Given the description of an element on the screen output the (x, y) to click on. 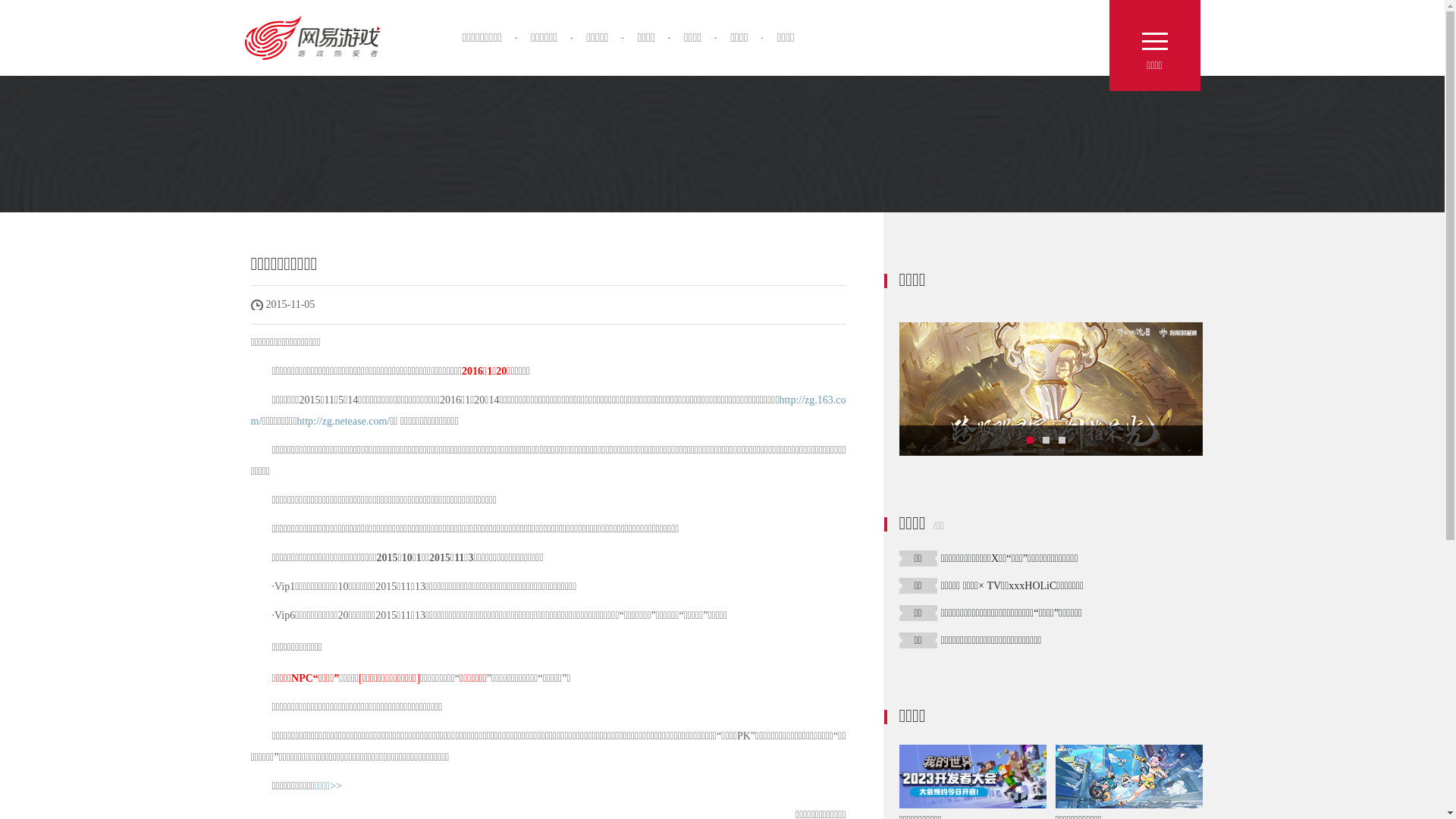
http://zg.netease.com/ Element type: text (342, 420)
http://zg.163.com/ Element type: text (547, 410)
